Given the description of an element on the screen output the (x, y) to click on. 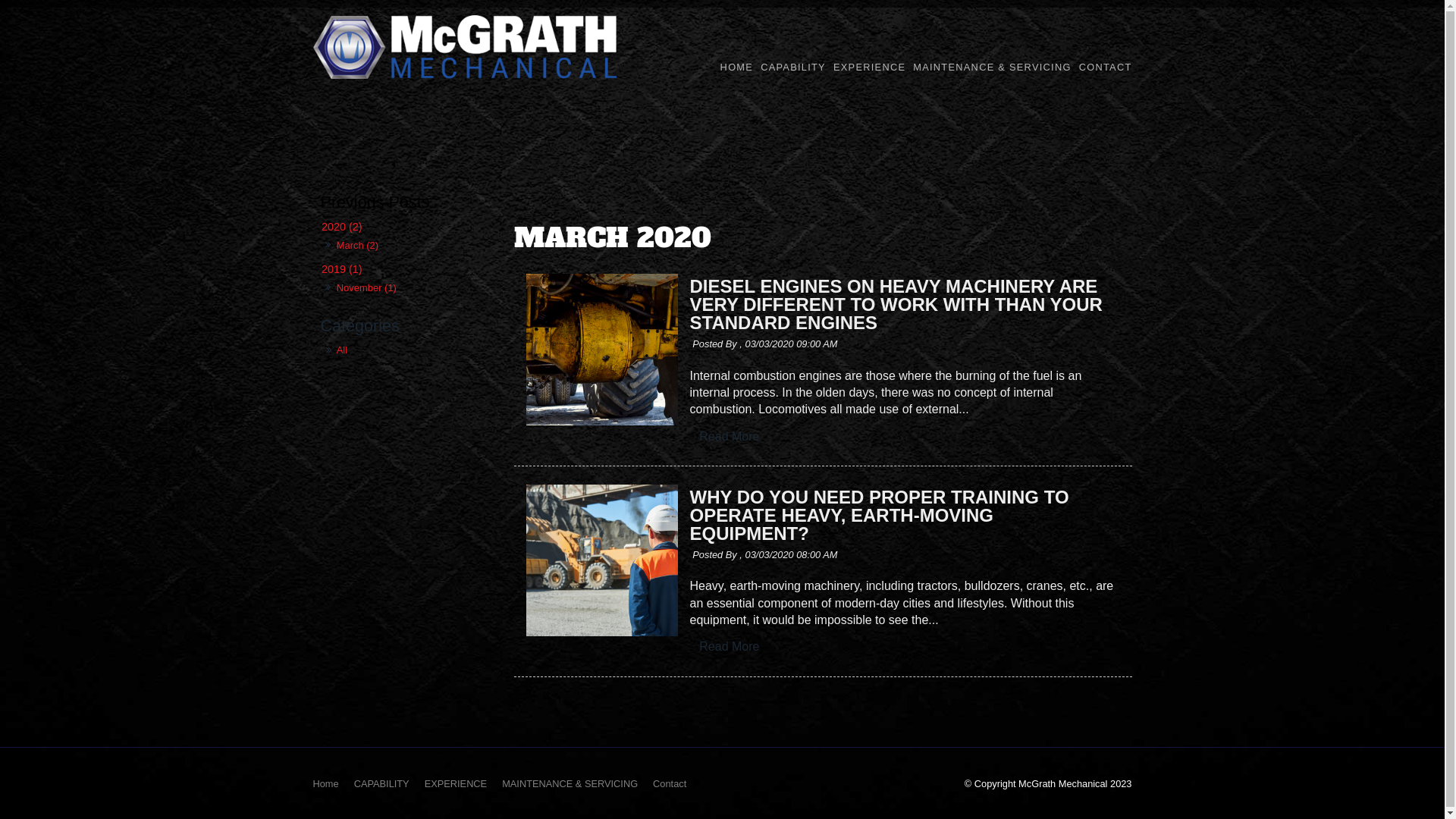
Read More Element type: text (729, 646)
Read More Element type: text (729, 646)
EXPERIENCE Element type: text (456, 783)
CAPABILITY Element type: text (381, 783)
All Element type: text (410, 349)
HOME Element type: text (736, 67)
Contact Element type: text (669, 783)
Home Element type: text (324, 783)
MAINTENANCE & SERVICING Element type: text (569, 783)
2019 (1) Element type: text (407, 268)
EXPERIENCE Element type: text (869, 67)
November (1) Element type: text (366, 288)
Read More Element type: text (729, 436)
2020 (2) Element type: text (407, 226)
CAPABILITY Element type: text (792, 67)
Read More Element type: text (729, 436)
CONTACT Element type: text (1105, 67)
March (2) Element type: text (357, 245)
MAINTENANCE & SERVICING Element type: text (991, 67)
